Given the description of an element on the screen output the (x, y) to click on. 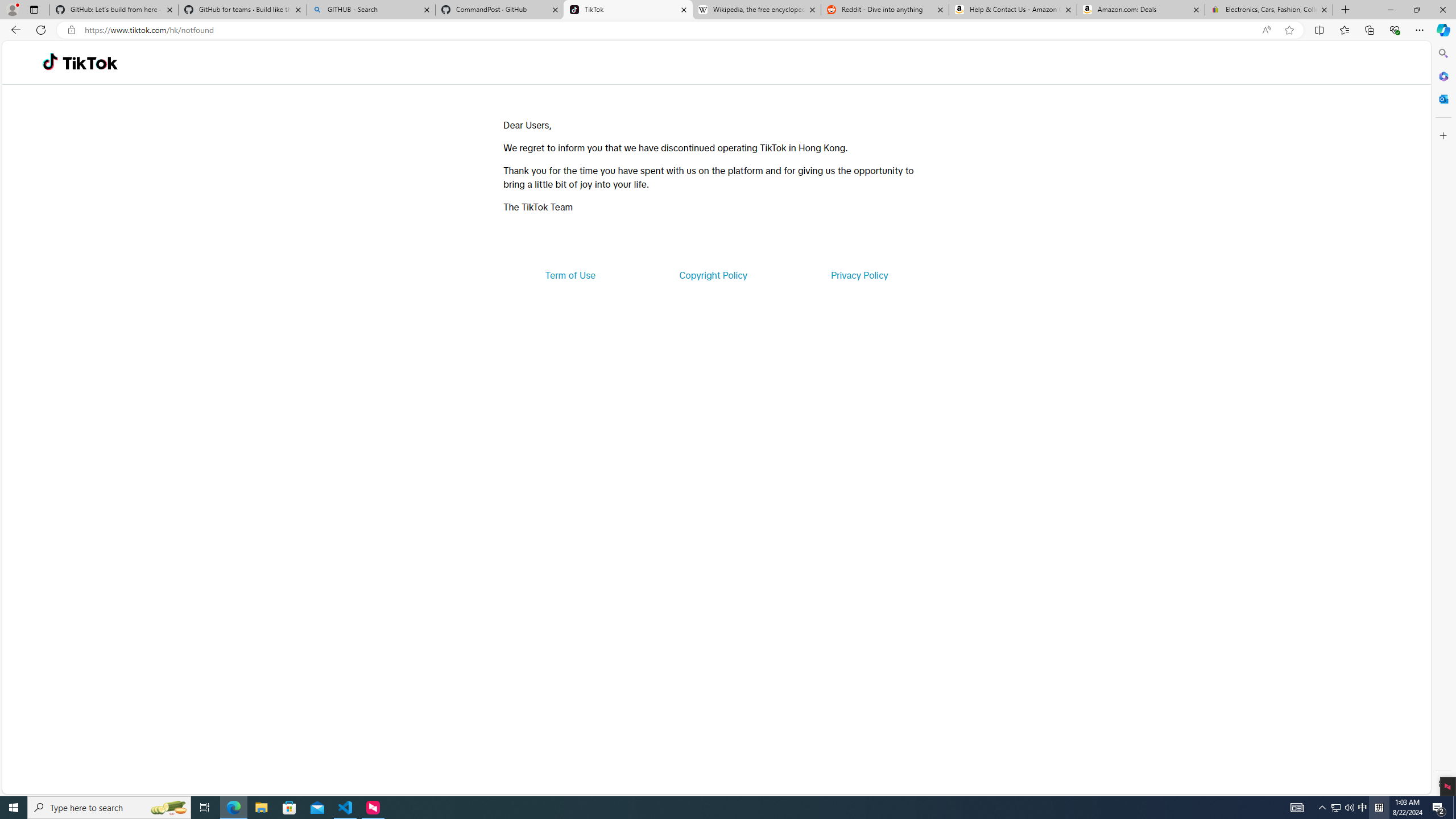
Amazon.com: Deals (1140, 9)
Term of Use (569, 274)
Privacy Policy (858, 274)
